Given the description of an element on the screen output the (x, y) to click on. 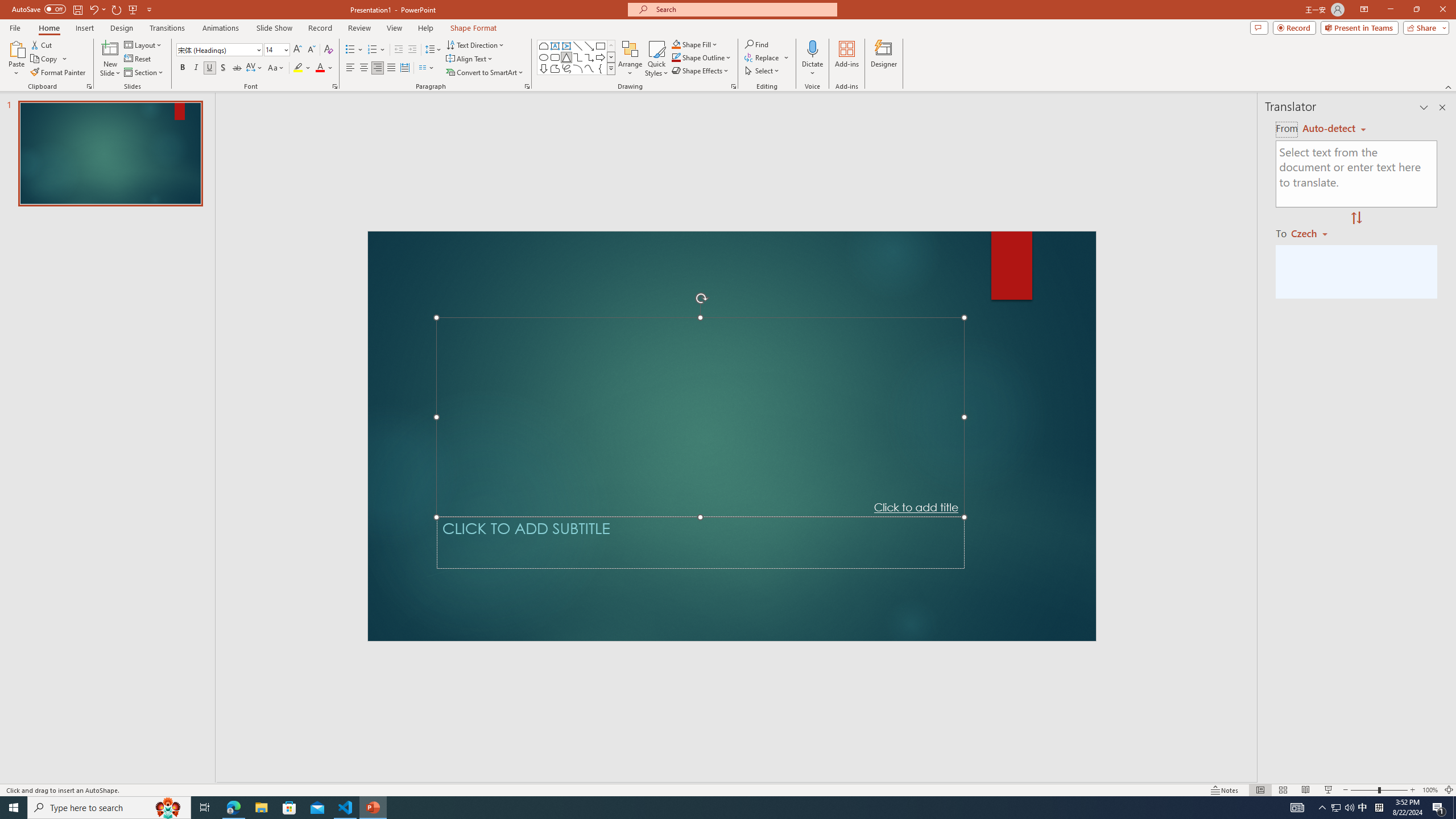
Rectangle: Top Corners Snipped (543, 45)
